Given the description of an element on the screen output the (x, y) to click on. 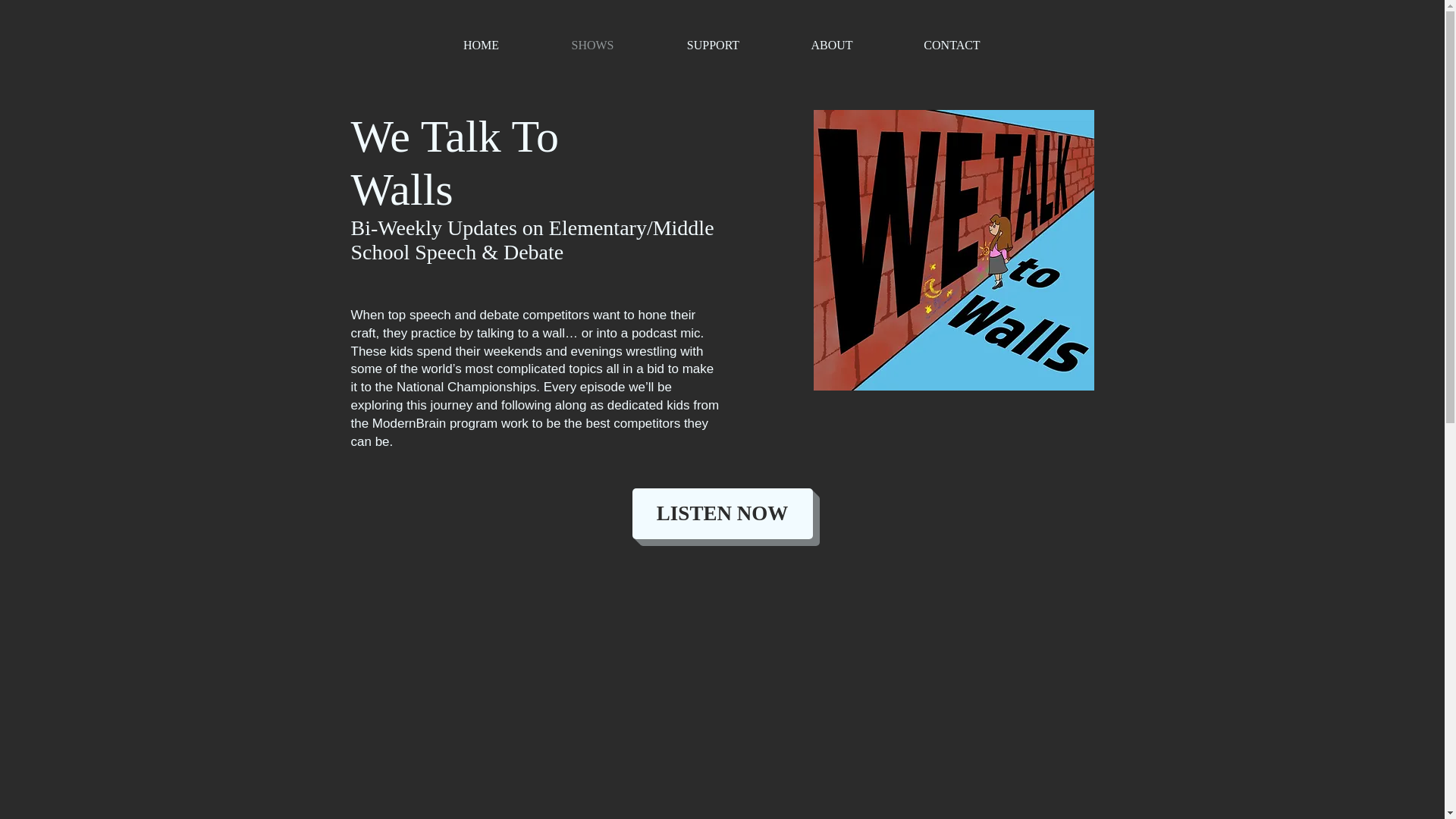
SUPPORT (713, 45)
SHOWS (592, 45)
ABOUT (832, 45)
LISTEN NOW (721, 513)
HOME (481, 45)
CONTACT (951, 45)
